Given the description of an element on the screen output the (x, y) to click on. 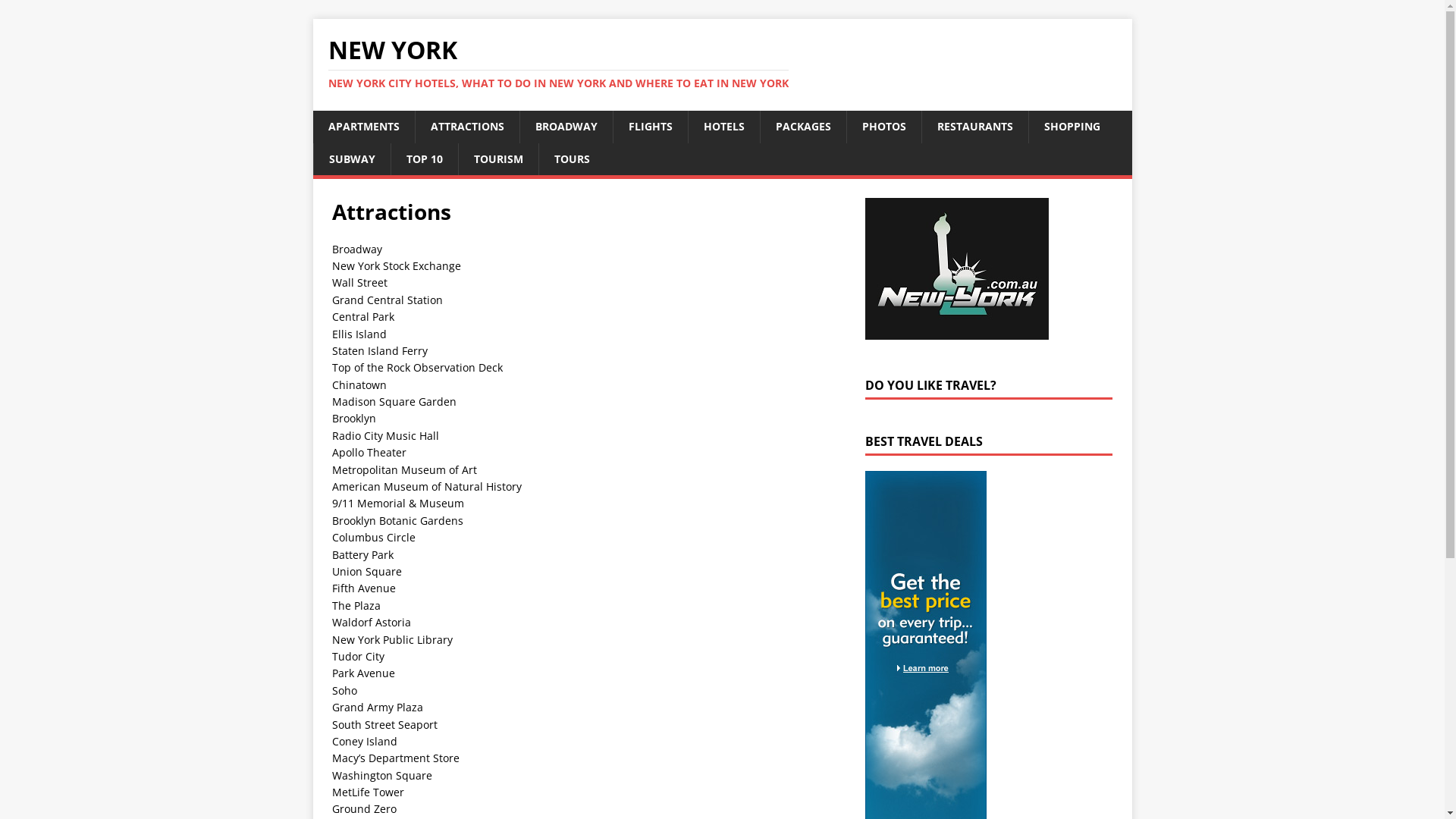
PHOTOS Element type: text (883, 126)
TOP 10 Element type: text (423, 159)
new york logo Element type: hover (956, 268)
SUBWAY Element type: text (350, 159)
BROADWAY Element type: text (564, 126)
ATTRACTIONS Element type: text (466, 126)
PACKAGES Element type: text (802, 126)
HOTELS Element type: text (723, 126)
SHOPPING Element type: text (1071, 126)
FLIGHTS Element type: text (649, 126)
APARTMENTS Element type: text (363, 126)
TOURISM Element type: text (498, 159)
TOURS Element type: text (571, 159)
RESTAURANTS Element type: text (973, 126)
